Given the description of an element on the screen output the (x, y) to click on. 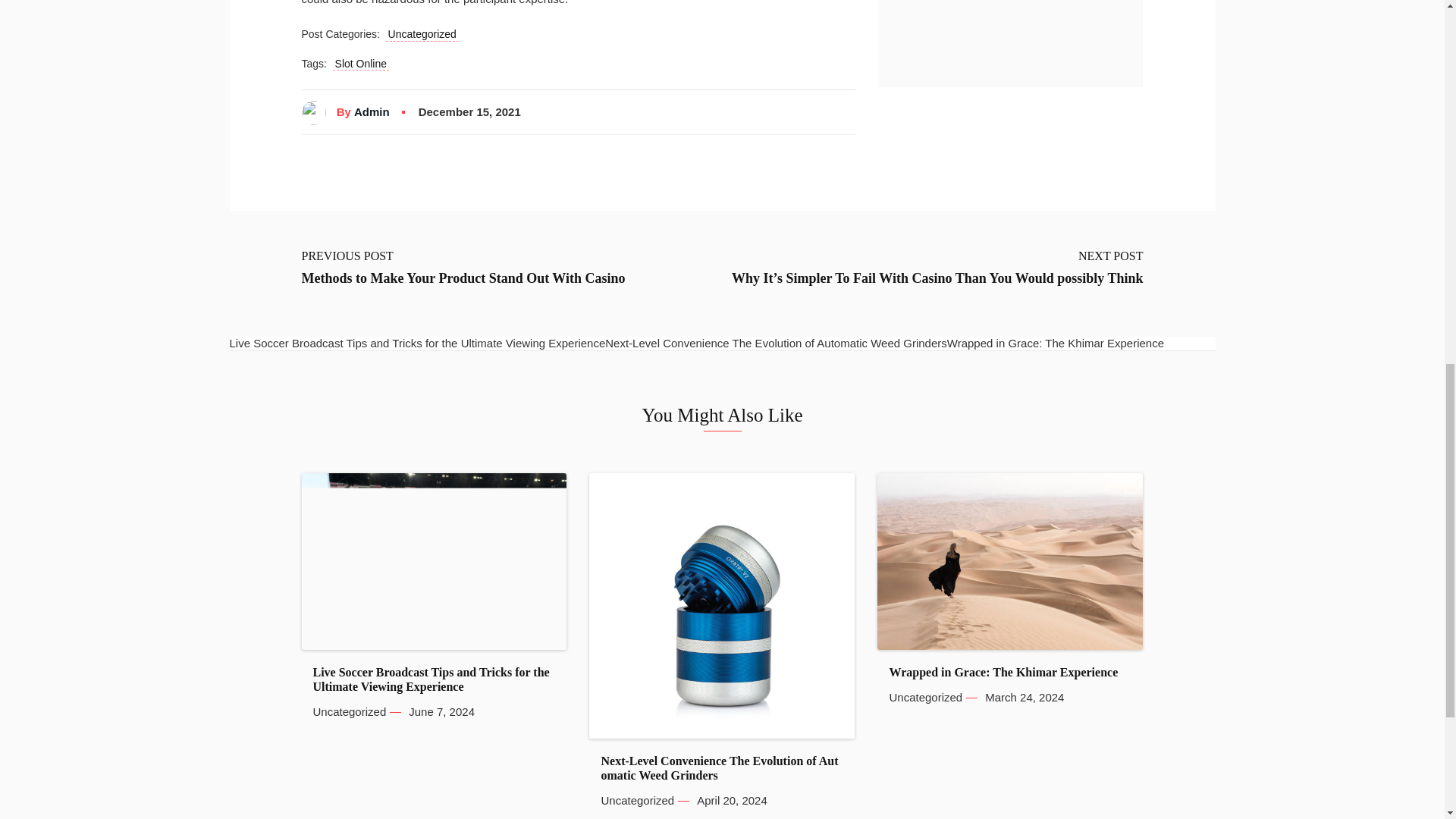
June 7, 2024 (441, 712)
Slot Online (360, 64)
Uncategorized (349, 712)
Methods to Make Your Product Stand Out With Casino (463, 279)
Admin (371, 111)
Uncategorized (421, 34)
